Given the description of an element on the screen output the (x, y) to click on. 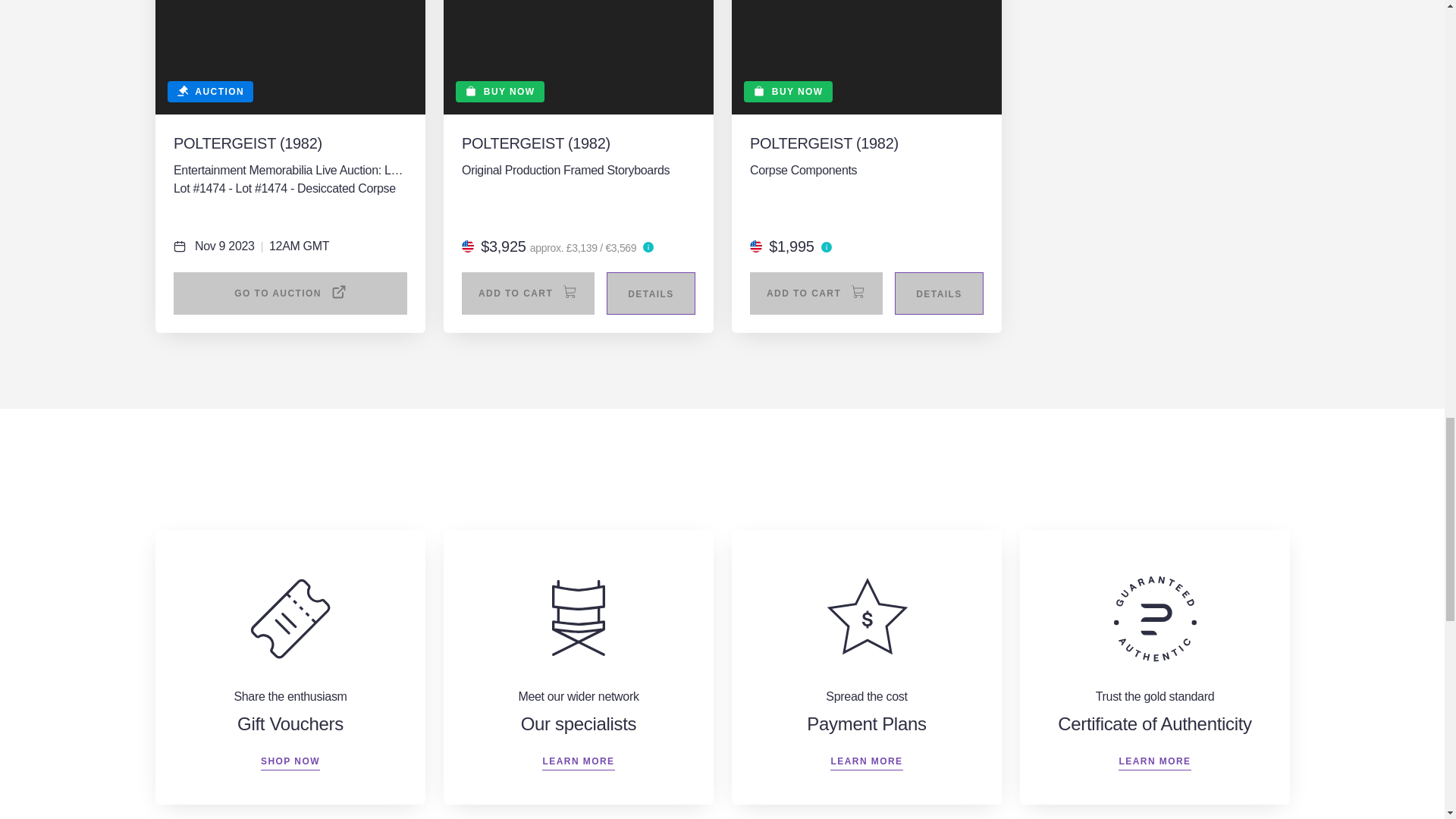
Corpse Components (865, 170)
Original Production Framed Storyboards (577, 170)
Entertainment Memorabilia Live Auction: London 2023 (289, 170)
